Given the description of an element on the screen output the (x, y) to click on. 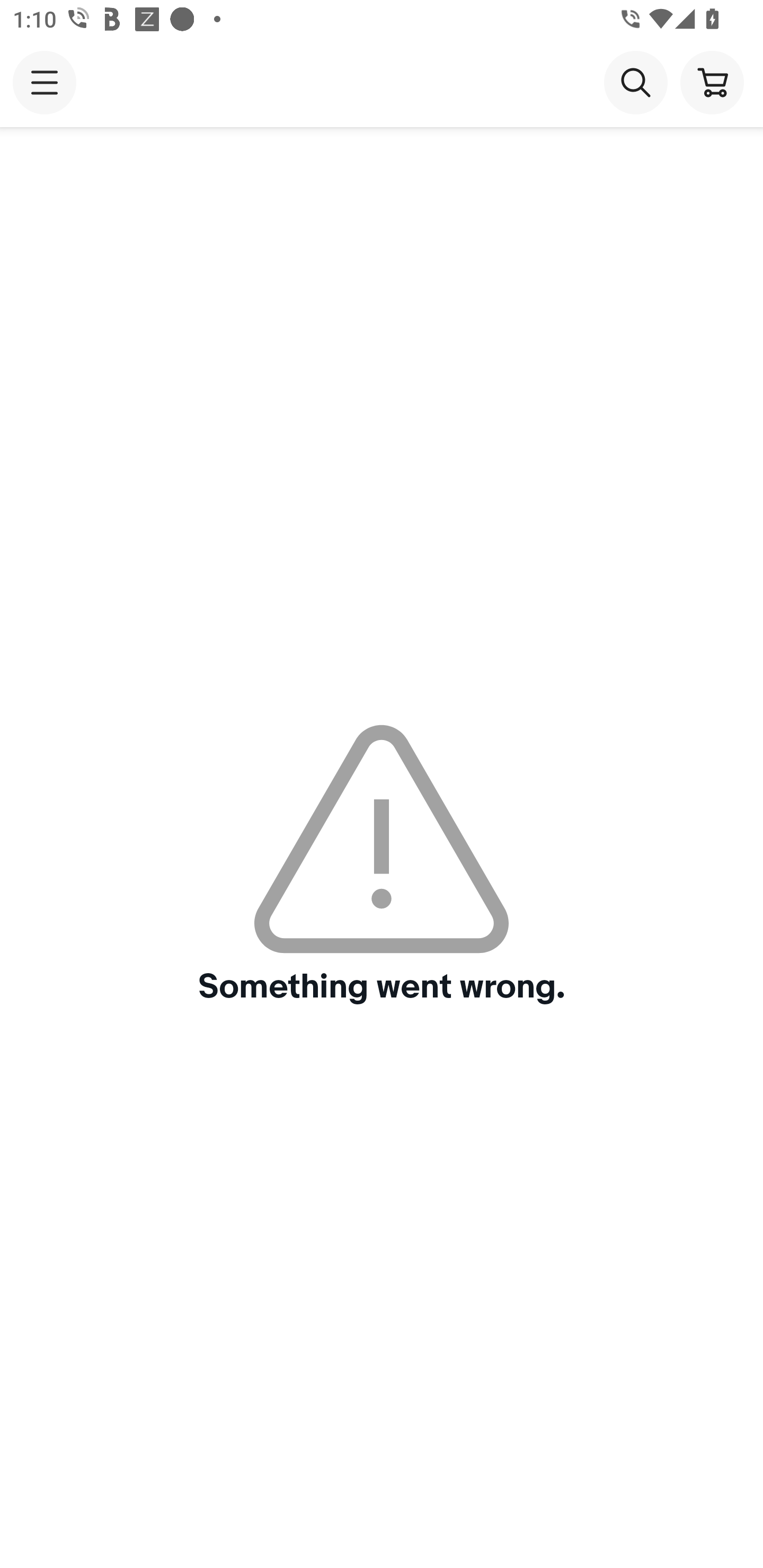
Main navigation, open (44, 82)
Search (635, 81)
Cart button shopping cart (711, 81)
